Given the description of an element on the screen output the (x, y) to click on. 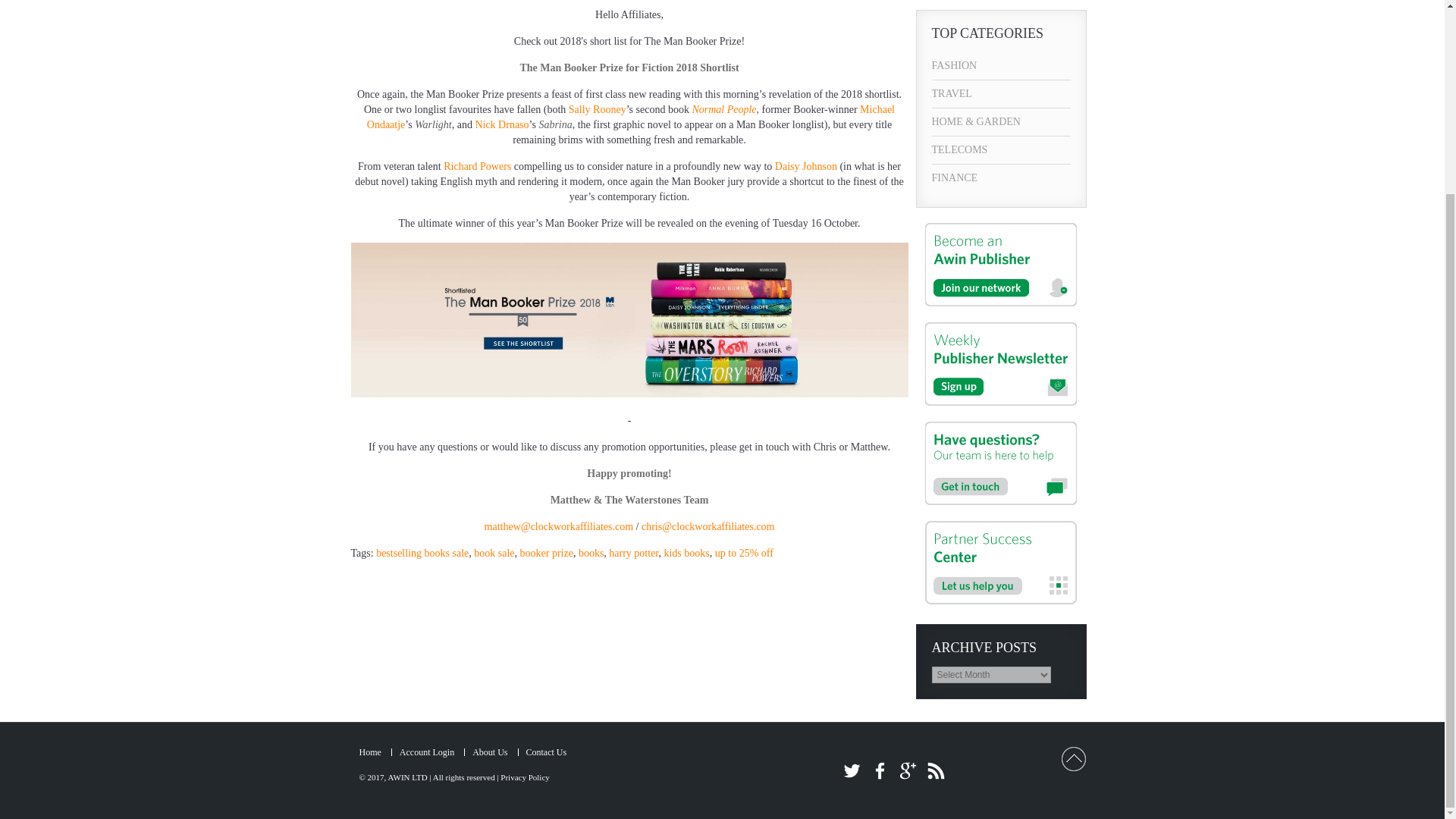
Nick Drnaso (501, 124)
Sally Rooney (597, 109)
The Man Booker Prize for Fiction 2018 Shortlist (628, 67)
Warlight (432, 124)
Richard Powers (477, 165)
Michael Ondaatje (630, 117)
Normal People (723, 109)
kids books (686, 552)
book sale (493, 552)
Daisy Johnson (805, 165)
